Given the description of an element on the screen output the (x, y) to click on. 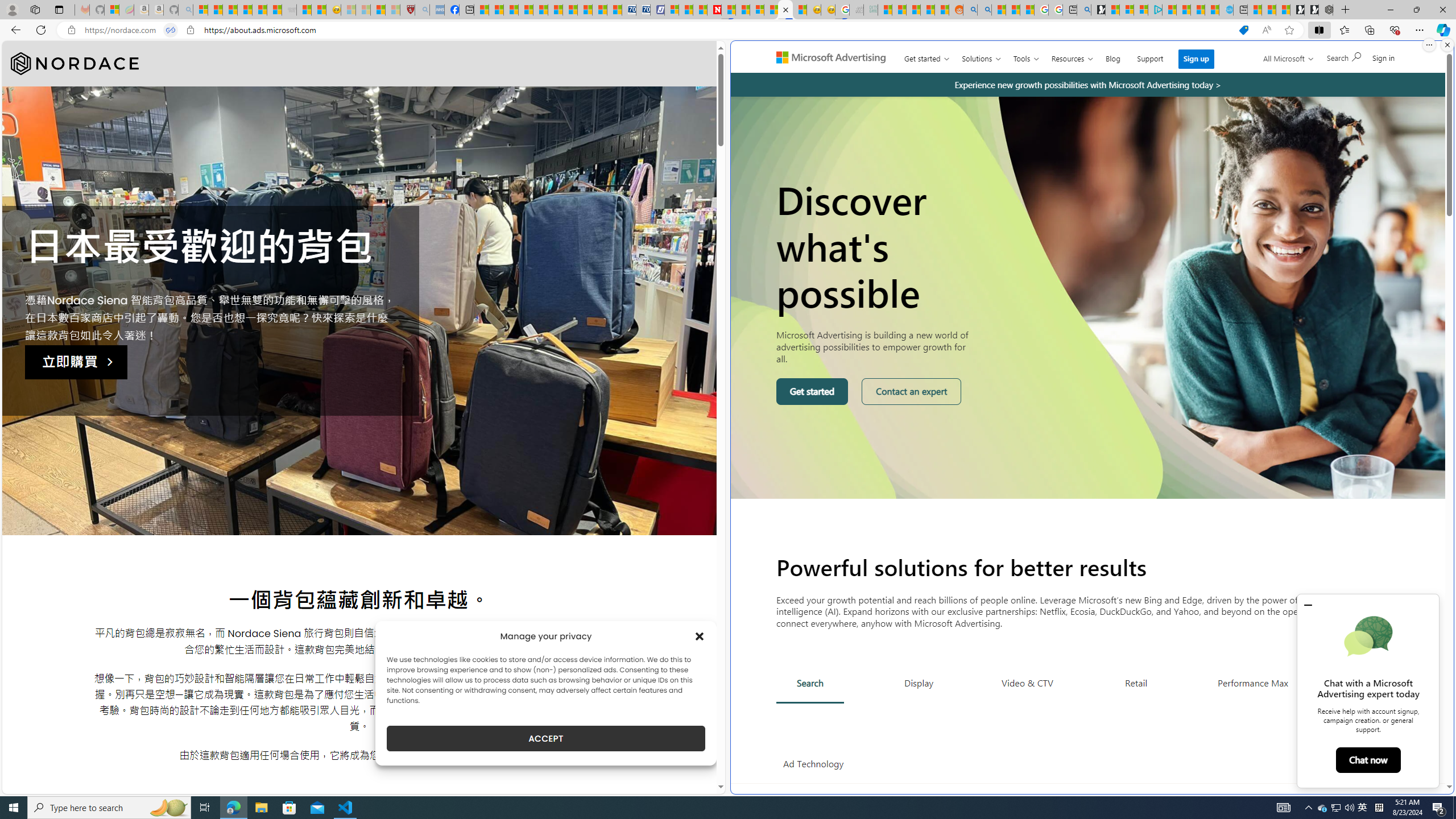
Retail (1136, 682)
Sign up (1195, 59)
